Given the description of an element on the screen output the (x, y) to click on. 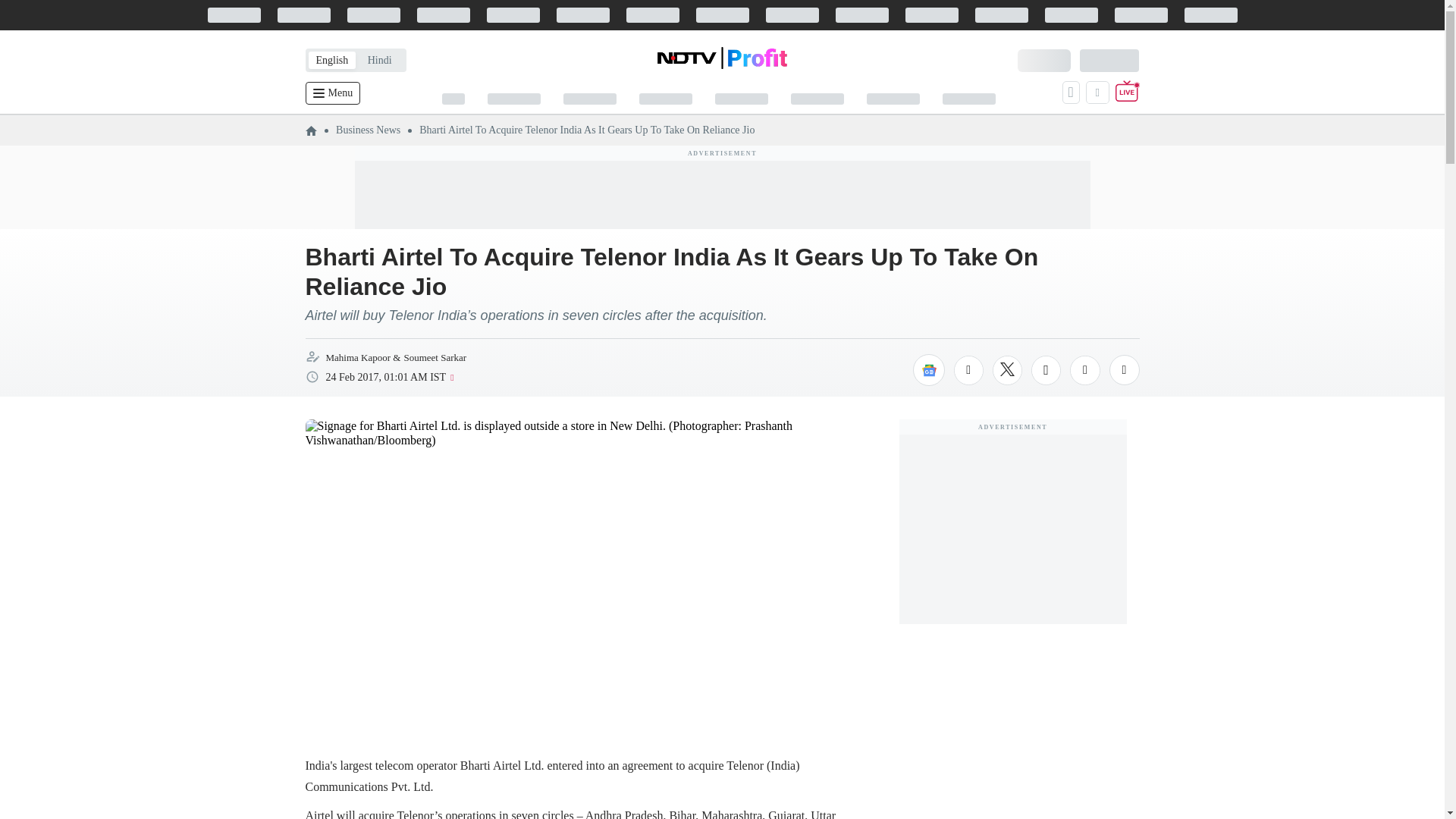
Live TV (1127, 92)
Menu (331, 92)
English (331, 59)
Hindi (379, 59)
Hindi (378, 59)
